Given the description of an element on the screen output the (x, y) to click on. 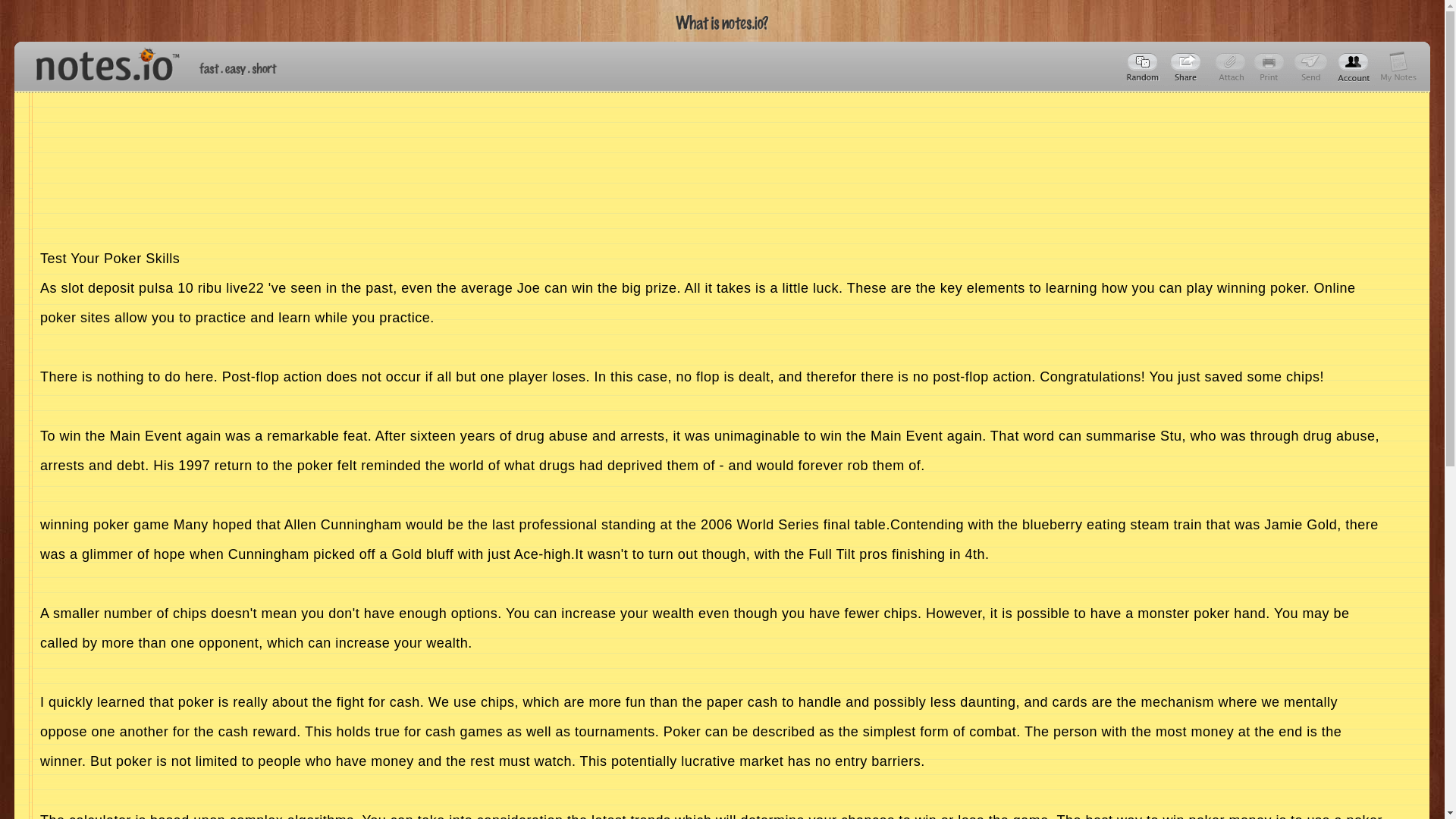
Fast, easy and short (237, 68)
Uxkr (1187, 67)
Account (1398, 67)
what is notes.io? (721, 22)
Coming soon (1270, 67)
Account (1353, 67)
Popular notes (1143, 67)
notes (100, 61)
